Given the description of an element on the screen output the (x, y) to click on. 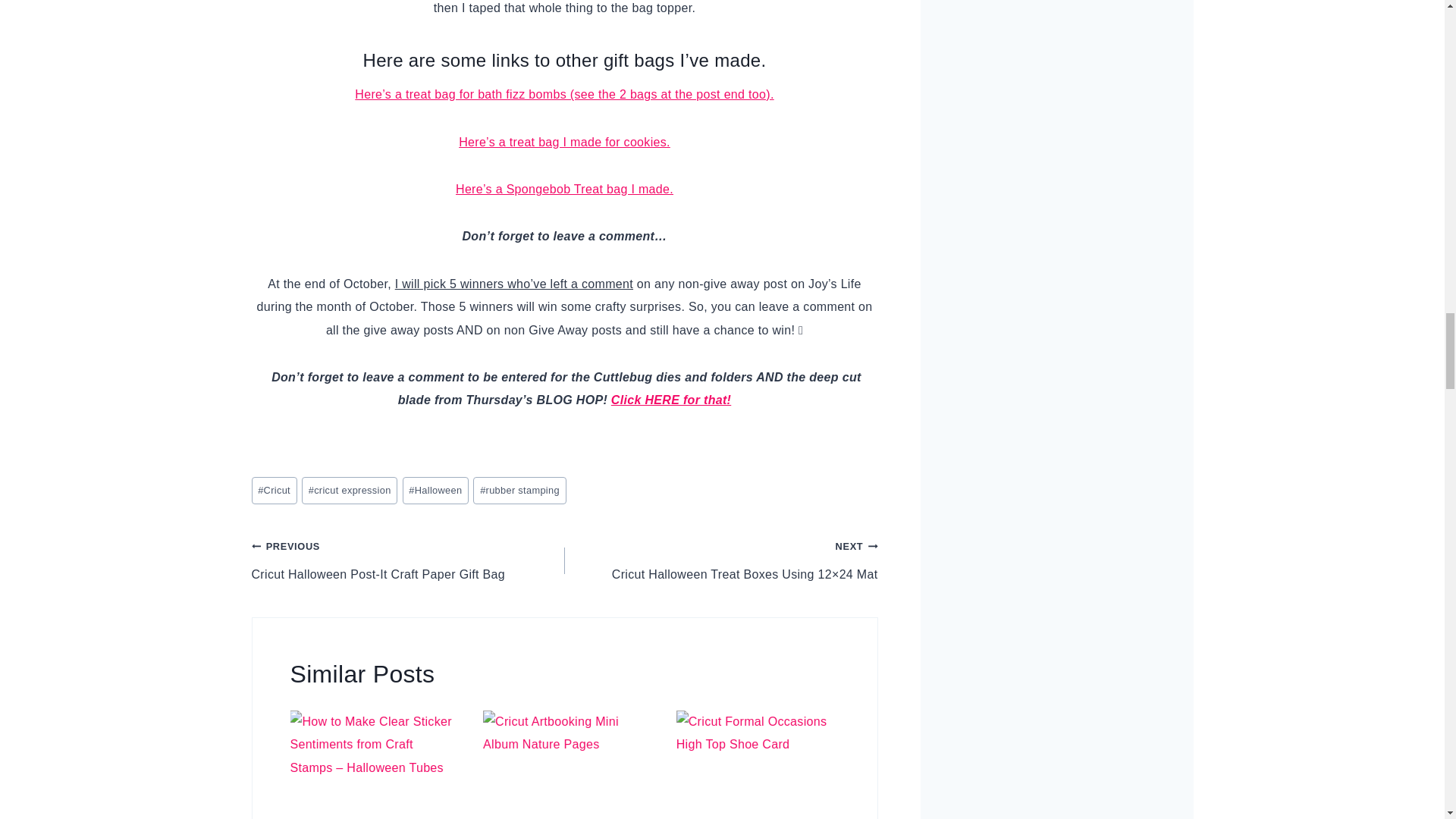
cricut expression (349, 490)
rubber stamping (519, 490)
Cricut (274, 490)
Halloween (435, 490)
